Given the description of an element on the screen output the (x, y) to click on. 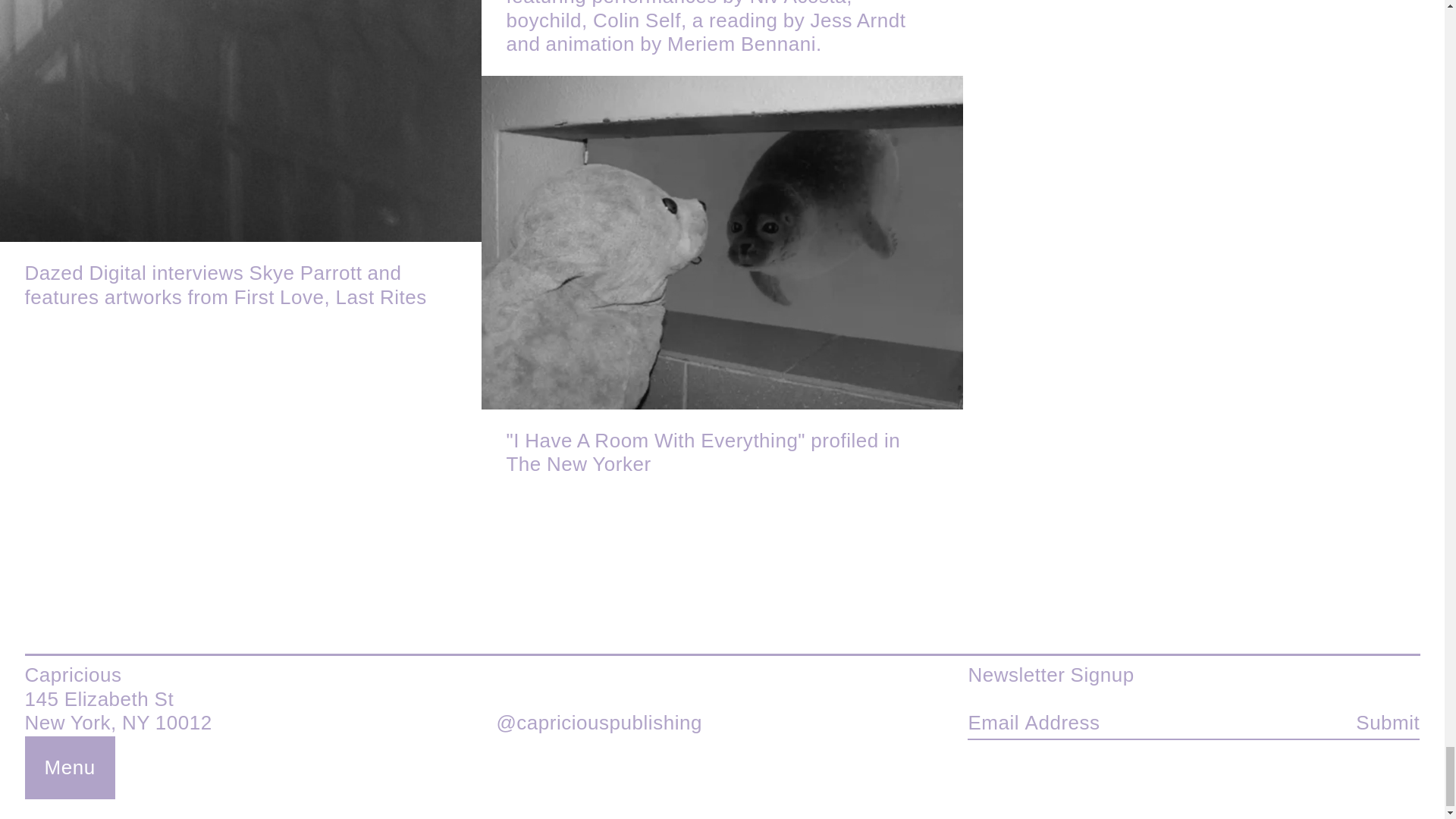
Submit (1363, 725)
Submit (1363, 725)
